Given the description of an element on the screen output the (x, y) to click on. 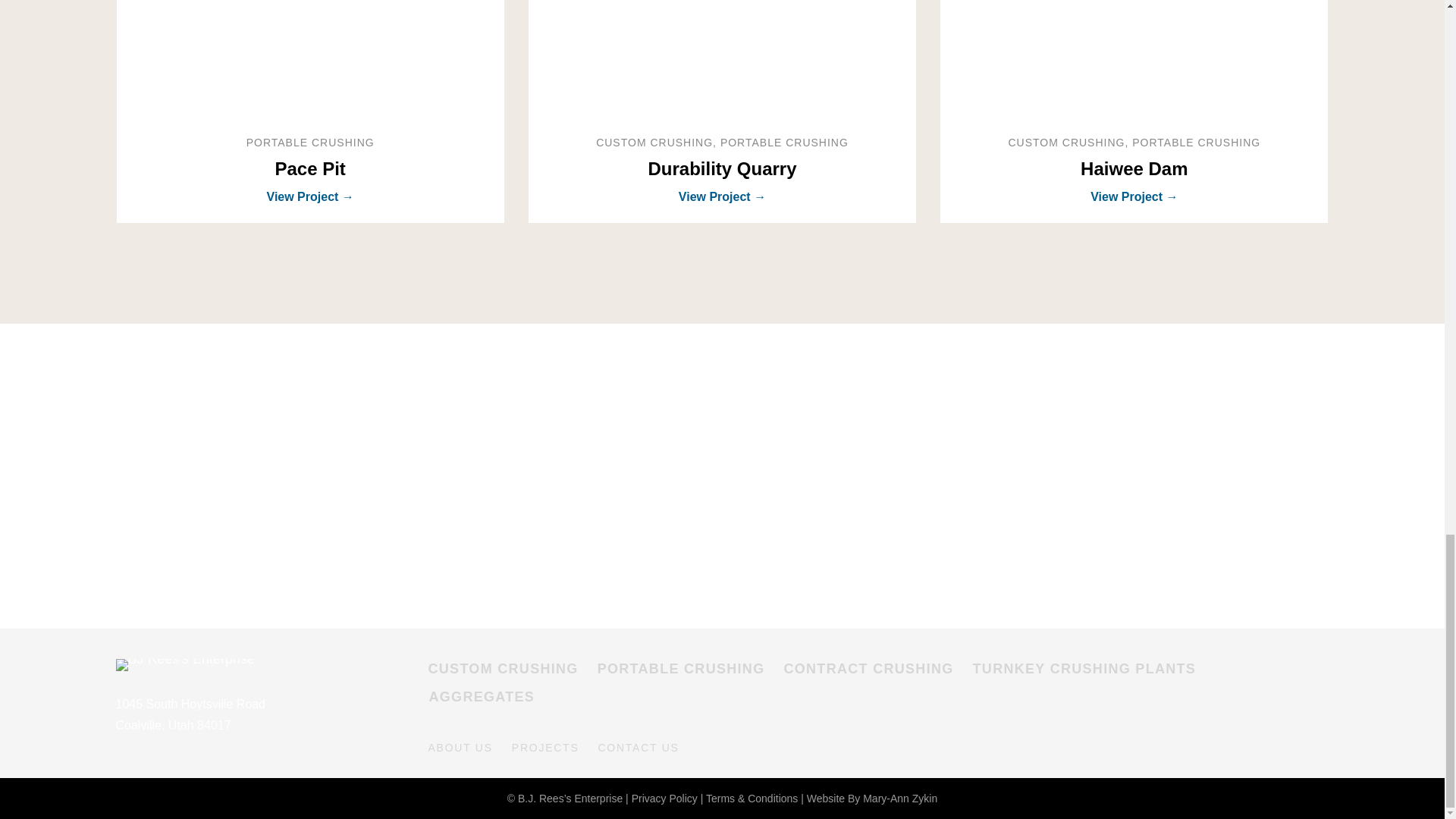
TURNKEY CRUSHING PLANTS (1084, 674)
CUSTOM CRUSHING (502, 674)
CONTACT US (637, 747)
Durability Quarry (721, 168)
Pace Pit (310, 168)
Haiwee Dam (1134, 168)
Haiwee Dam (1133, 58)
Durability Quarry (721, 168)
Privacy Policy (664, 798)
Durability Quarry (721, 58)
Haiwee Dam (1134, 168)
ABOUT US (459, 747)
Mary-Ann Zykin (900, 798)
Pace Pit (309, 58)
Pace Pit (310, 168)
